Given the description of an element on the screen output the (x, y) to click on. 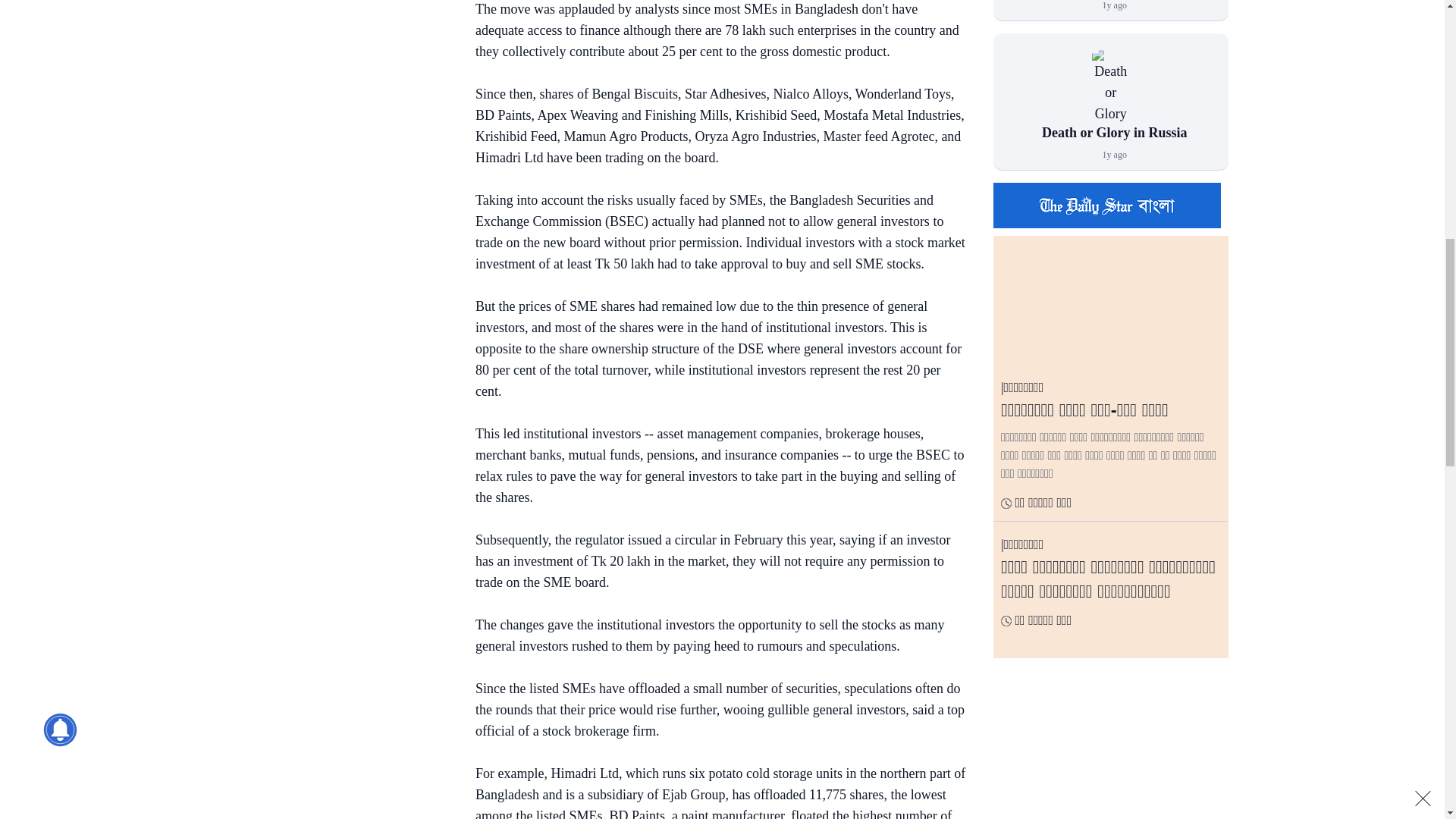
Russian Orthodoxy (1110, 86)
